Given the description of an element on the screen output the (x, y) to click on. 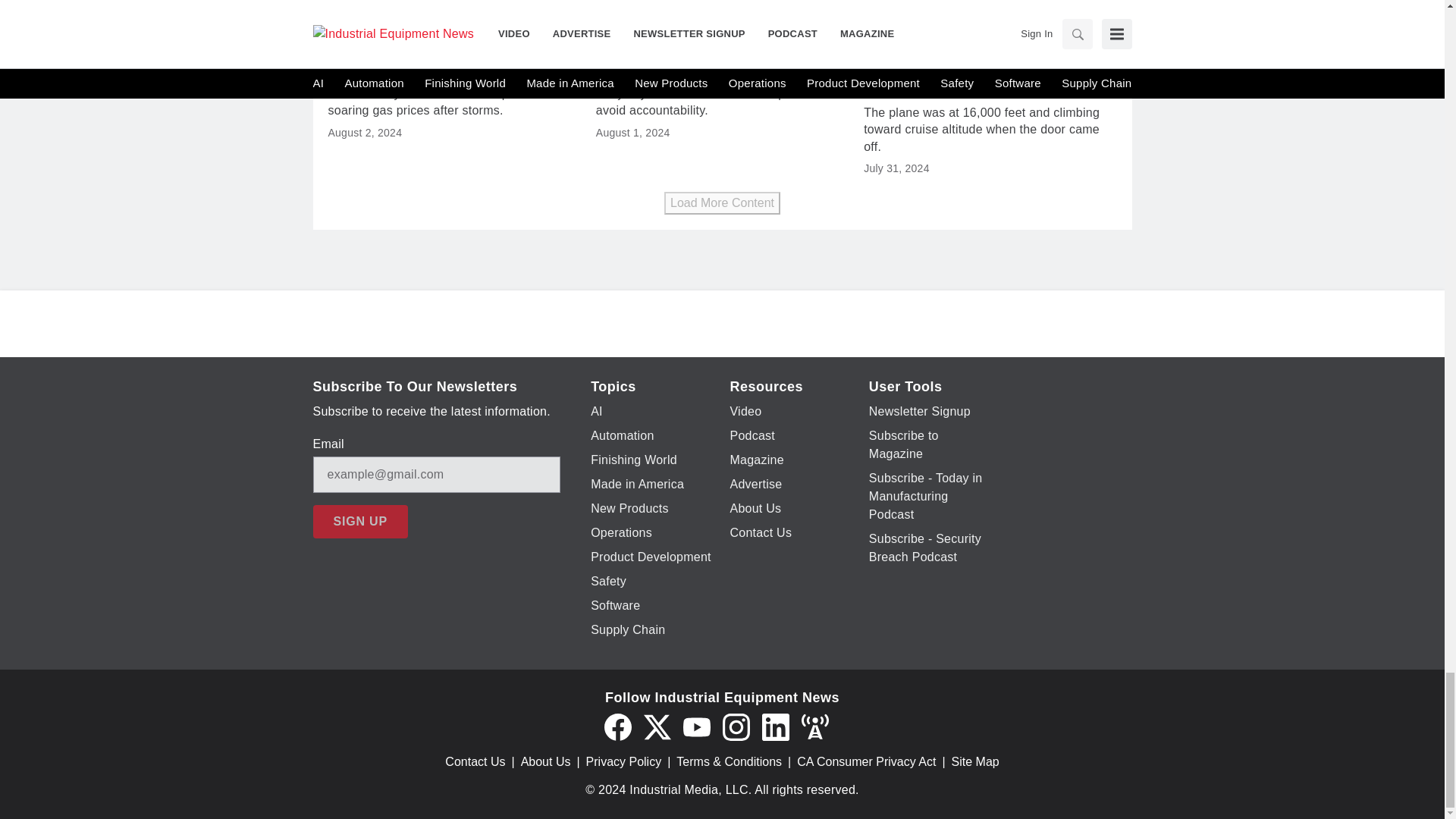
LinkedIn icon (775, 727)
Twitter X icon (656, 727)
YouTube icon (696, 727)
Instagram icon (735, 727)
Facebook icon (617, 727)
